Given the description of an element on the screen output the (x, y) to click on. 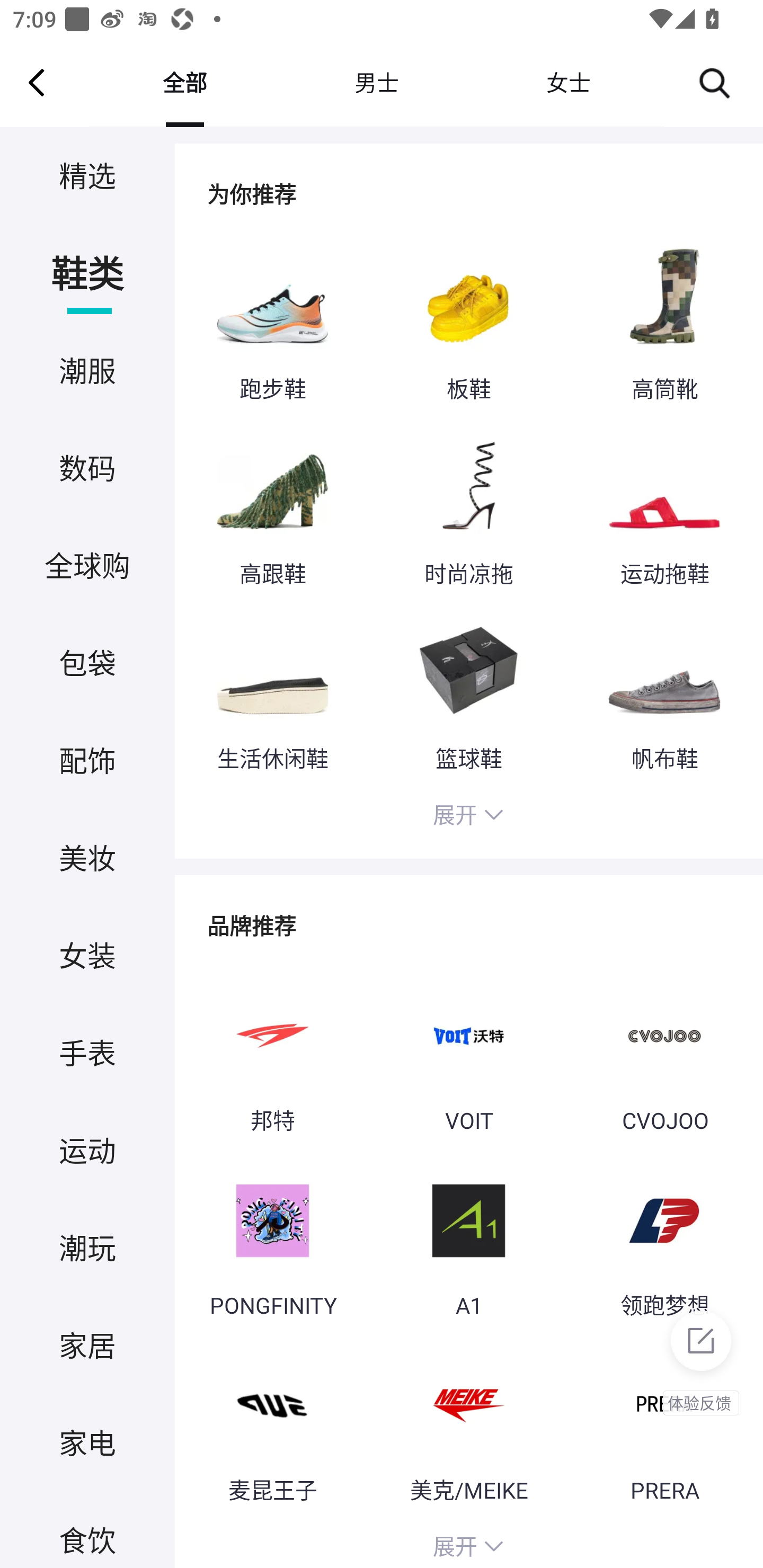
Navigate up (36, 82)
全部 (184, 82)
男士 (376, 82)
女士 (568, 82)
跑步鞋 (272, 325)
板鞋 (468, 325)
高筒靴 (664, 325)
高跟鞋 (272, 510)
时尚凉拖 (468, 510)
运动拖鞋 (664, 510)
生活休闲鞋 (272, 694)
篮球鞋 (468, 694)
帆布鞋 (664, 694)
展开  (468, 817)
邦特 (272, 1056)
VOIT (468, 1056)
CVOJOO (664, 1056)
PONGFINITY (272, 1241)
A1 (468, 1241)
领跑梦想 (664, 1241)
体验反馈 (700, 1358)
麦昆王子 (272, 1426)
美克/MEIKE (468, 1426)
PRERA (664, 1426)
展开  (468, 1543)
